Given the description of an element on the screen output the (x, y) to click on. 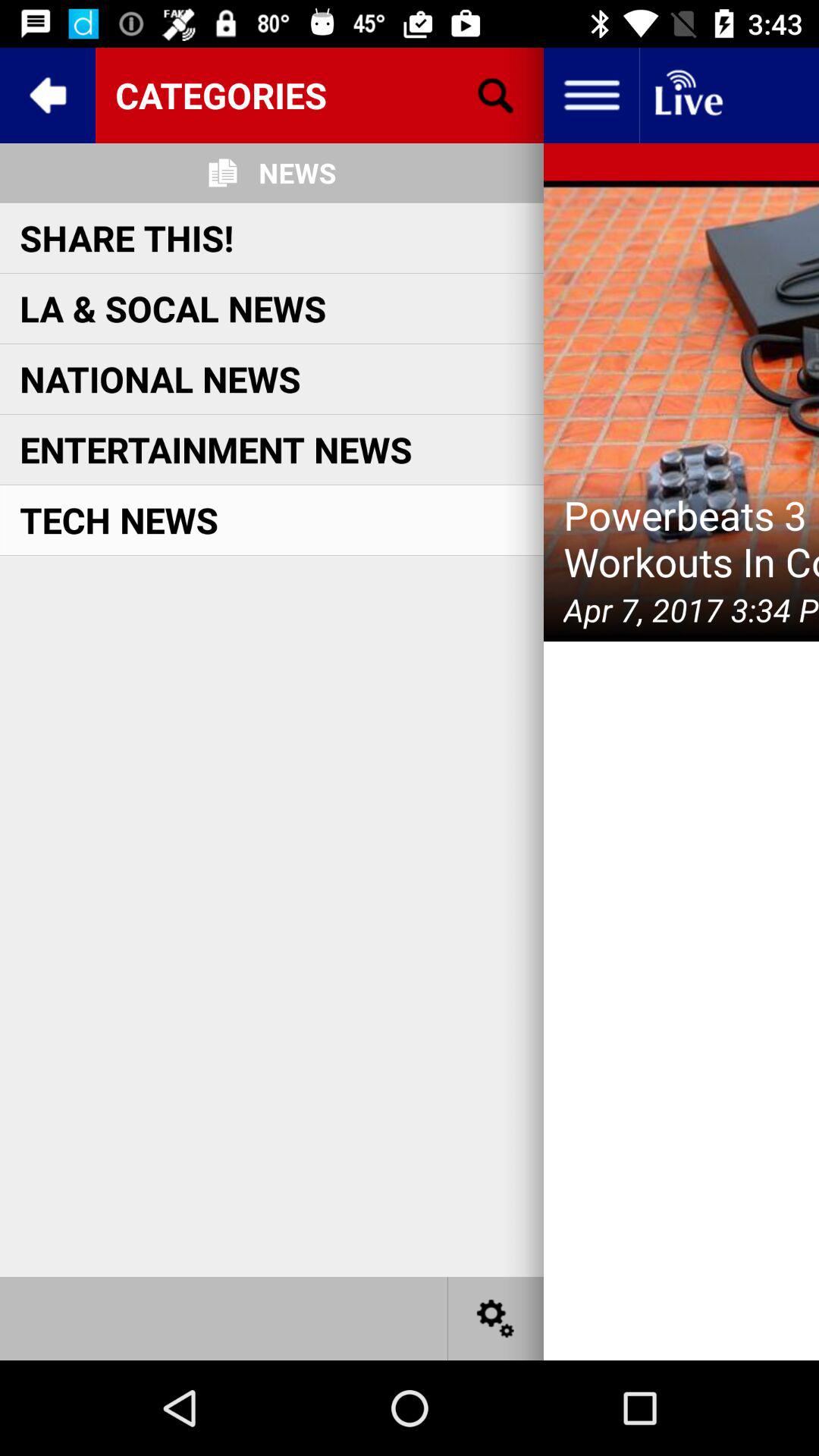
go to live news (687, 95)
